Given the description of an element on the screen output the (x, y) to click on. 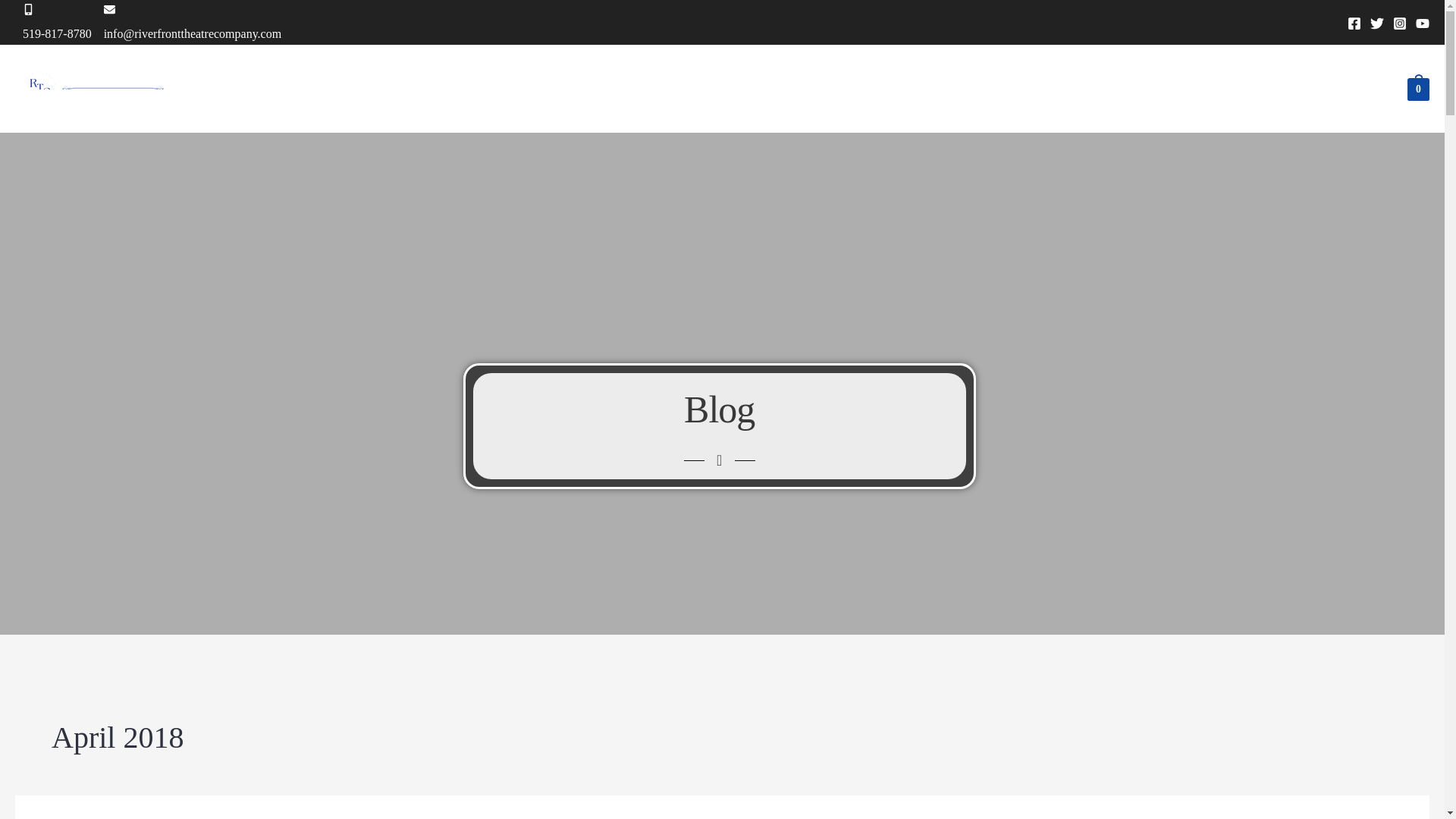
Home (465, 89)
Volunteers (679, 89)
519-817-8780 (63, 20)
Tickets (974, 89)
0 (1418, 88)
Sponsors (596, 89)
Contact (757, 89)
About (526, 89)
